Given the description of an element on the screen output the (x, y) to click on. 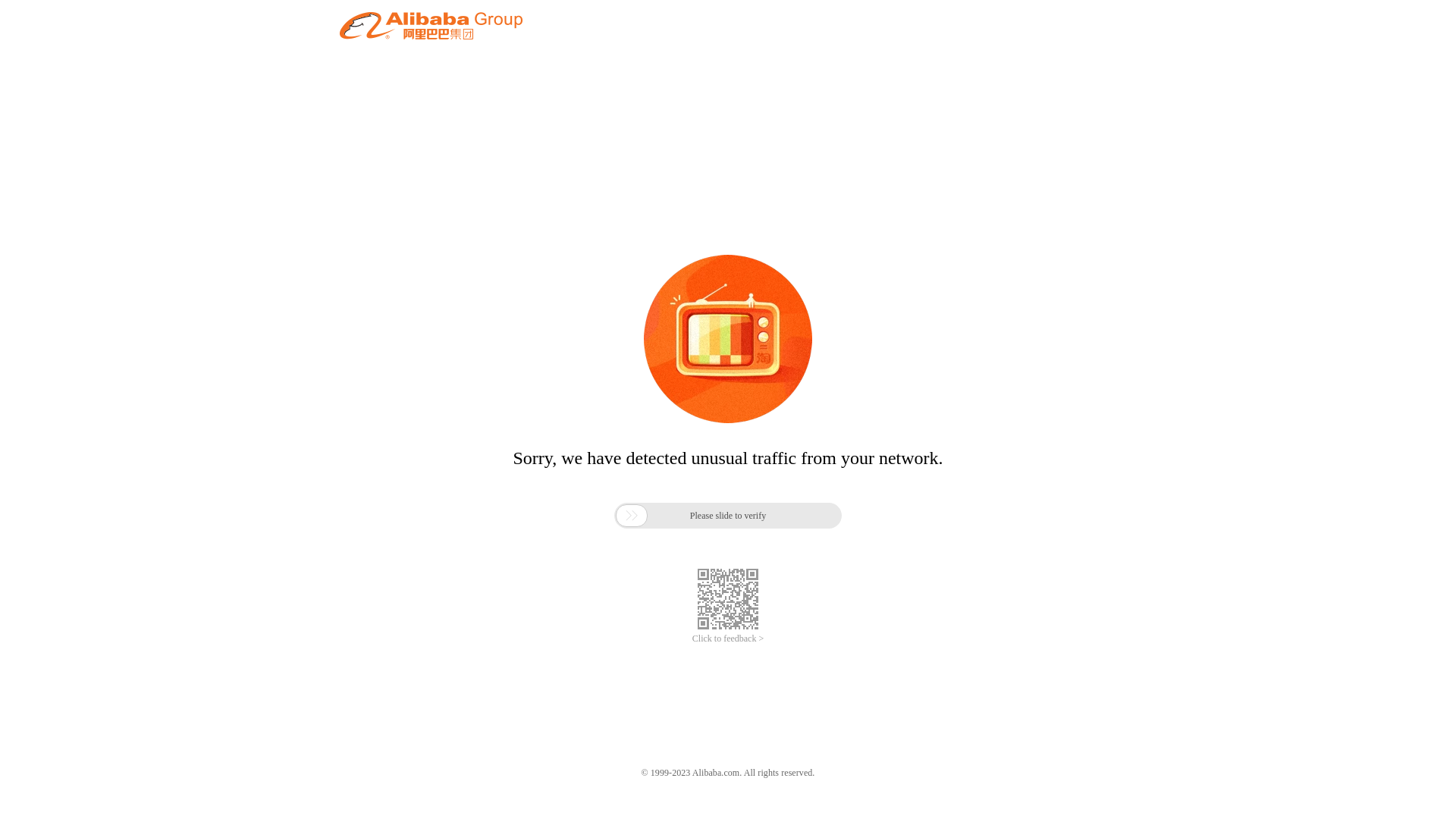
Click to feedback > Element type: text (727, 638)
